Given the description of an element on the screen output the (x, y) to click on. 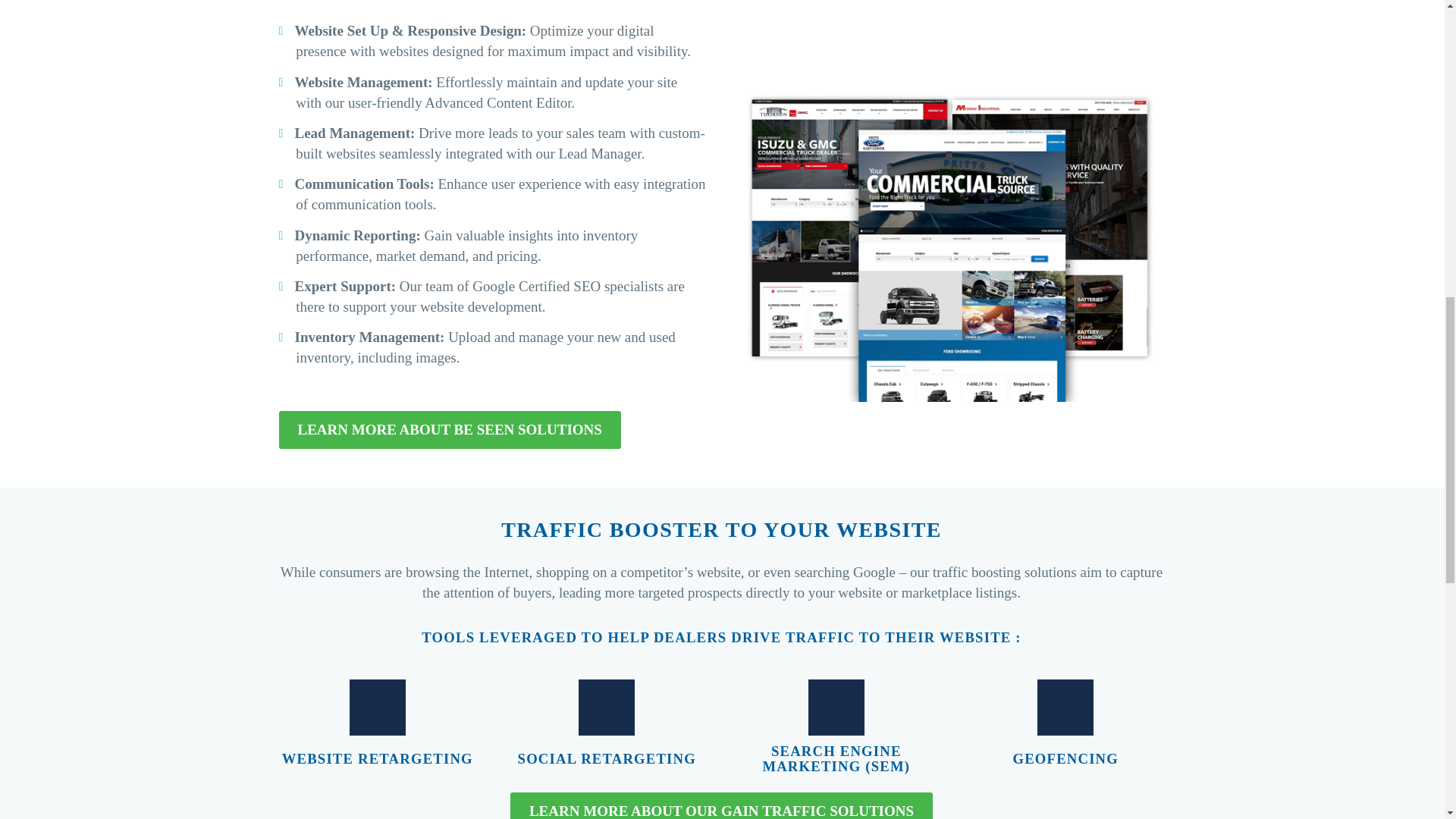
LEARN MORE ABOUT BE SEEN SOLUTIONS (450, 429)
LEARN MORE ABOUT OUR GAIN TRAFFIC SOLUTIONS (722, 805)
